Given the description of an element on the screen output the (x, y) to click on. 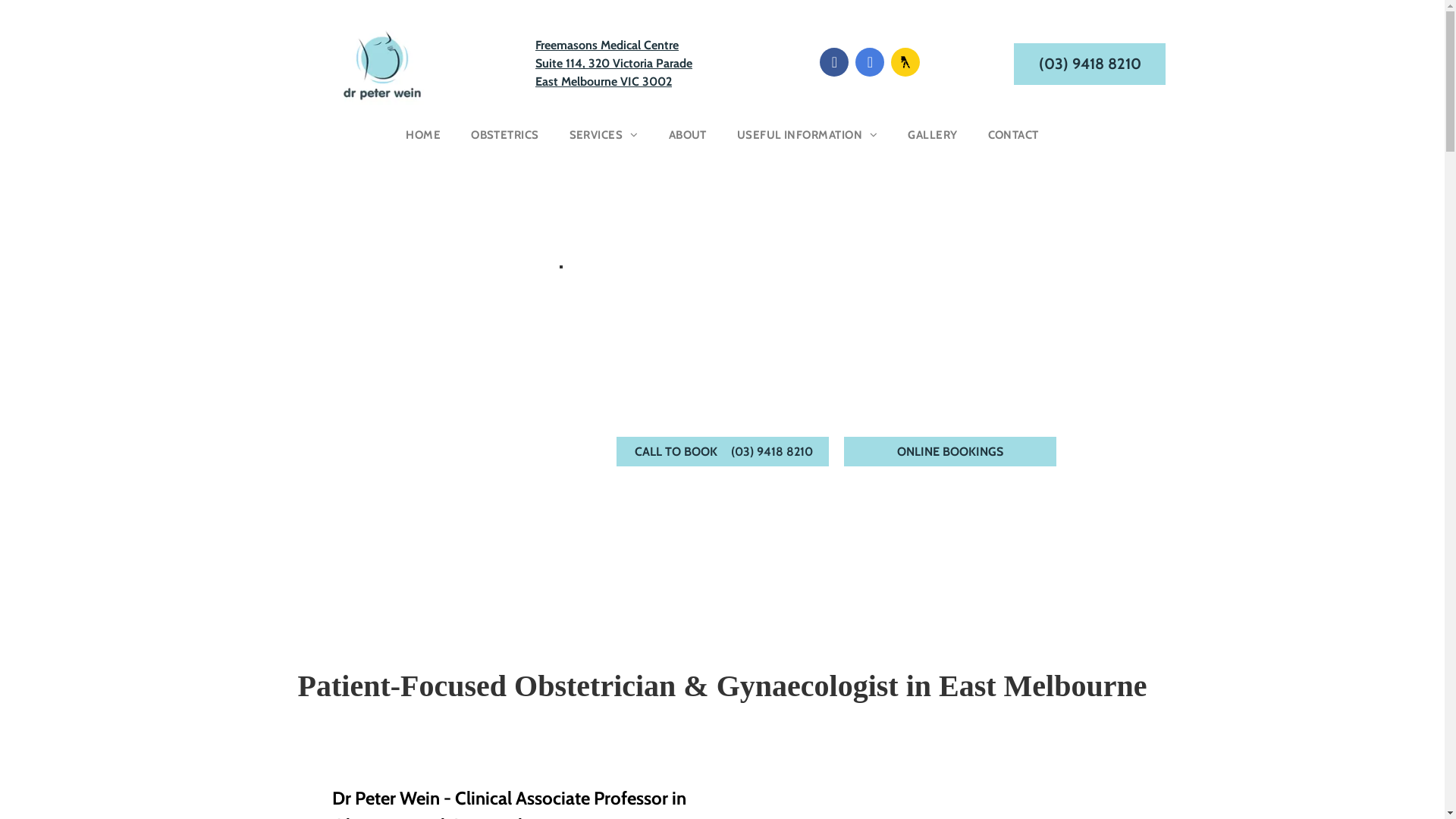
Dr Peter Wein Element type: hover (382, 63)
GALLERY Element type: text (932, 134)
East Melbourne VIC 3002 Element type: text (603, 81)
CALL TO BOOK (03) 9418 8210 Element type: text (721, 451)
USEFUL INFORMATION Element type: text (807, 134)
Suite 114, 320 Victoria Parade Element type: text (613, 63)
Freemasons Medical Centre Element type: text (606, 44)
SERVICES Element type: text (603, 134)
(03) 9418 8210 Element type: text (1089, 63)
ABOUT Element type: text (687, 134)
CONTACT Element type: text (1013, 134)
ONLINE BOOKINGS Element type: text (949, 451)
HOME Element type: text (422, 134)
OBSTETRICS Element type: text (504, 134)
